Given the description of an element on the screen output the (x, y) to click on. 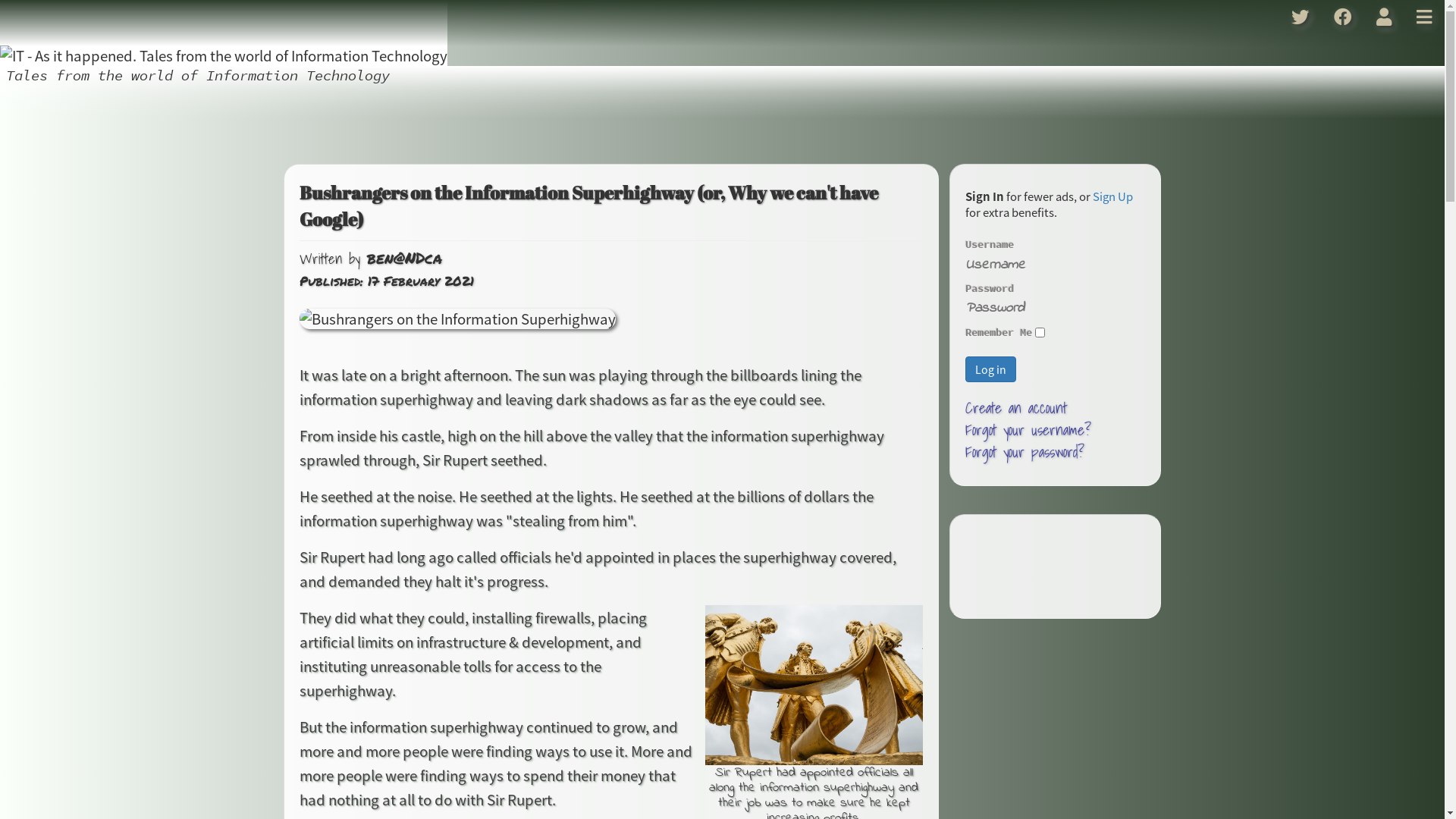
Log in Element type: text (990, 369)
Create an account Element type: text (1015, 407)
Join us on Facebook Element type: hover (1342, 17)
Sign in to your account Element type: hover (1384, 17)
Follow us on Twitter Element type: hover (1300, 17)
Sign Up Element type: text (1112, 195)
Forgot your password? Element type: text (1024, 451)
Forgot your username? Element type: text (1028, 429)
